Given the description of an element on the screen output the (x, y) to click on. 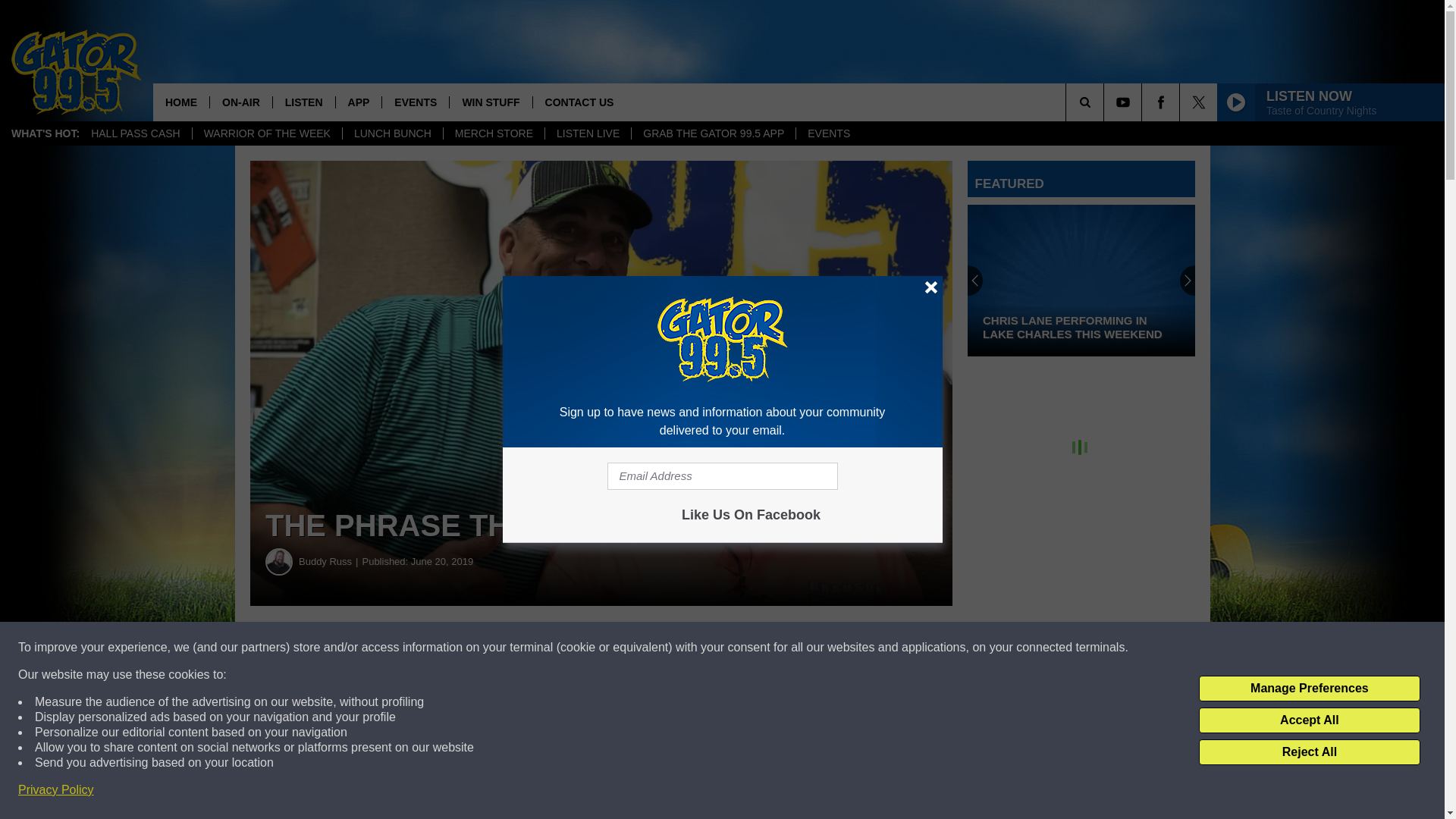
EVENTS (827, 133)
GRAB THE GATOR 99.5 APP (712, 133)
Privacy Policy (55, 789)
Reject All (1309, 751)
HOME (180, 102)
EVENTS (414, 102)
ON-AIR (240, 102)
LISTEN LIVE (587, 133)
Email Address (722, 475)
APP (357, 102)
HALL PASS CASH (136, 133)
SEARCH (1106, 102)
Manage Preferences (1309, 688)
LISTEN (303, 102)
WIN STUFF (489, 102)
